Given the description of an element on the screen output the (x, y) to click on. 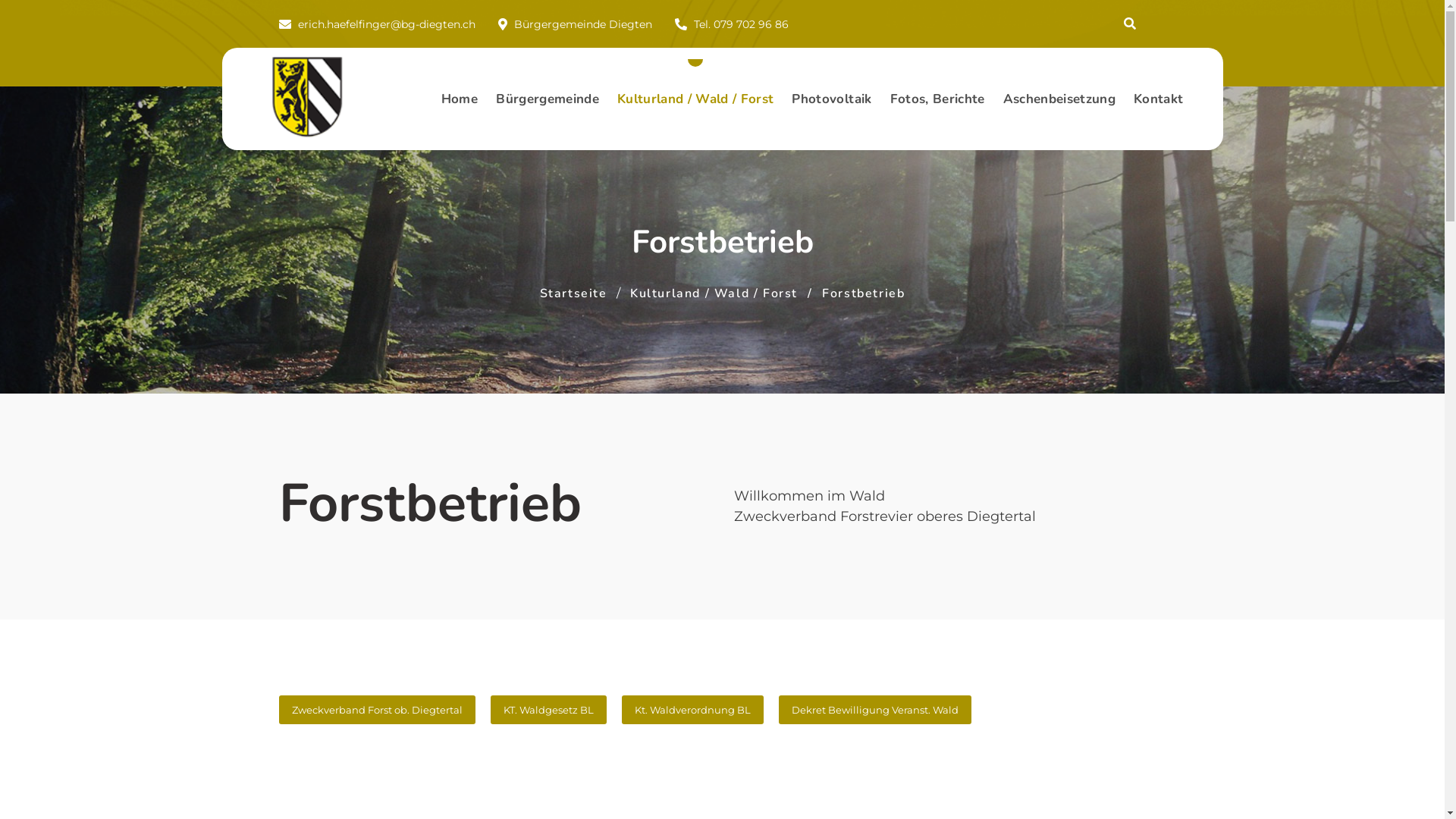
Fotos, Berichte Element type: text (937, 99)
Startseite Element type: text (573, 293)
Aschenbeisetzung Element type: text (1059, 99)
erich.haefelfinger@bg-diegten.ch Element type: text (385, 24)
Home Element type: text (459, 99)
Kulturland / Wald / Forst Element type: text (713, 293)
Kt. Waldverordnung BL Element type: text (692, 709)
Dekret Bewilligung Veranst. Wald Element type: text (874, 709)
Kulturland / Wald / Forst Element type: text (695, 99)
Kontakt Element type: text (1158, 99)
KT. Waldgesetz BL Element type: text (547, 709)
Zweckverband Forst ob. Diegtertal Element type: text (377, 709)
Photovoltaik Element type: text (831, 99)
